Given the description of an element on the screen output the (x, y) to click on. 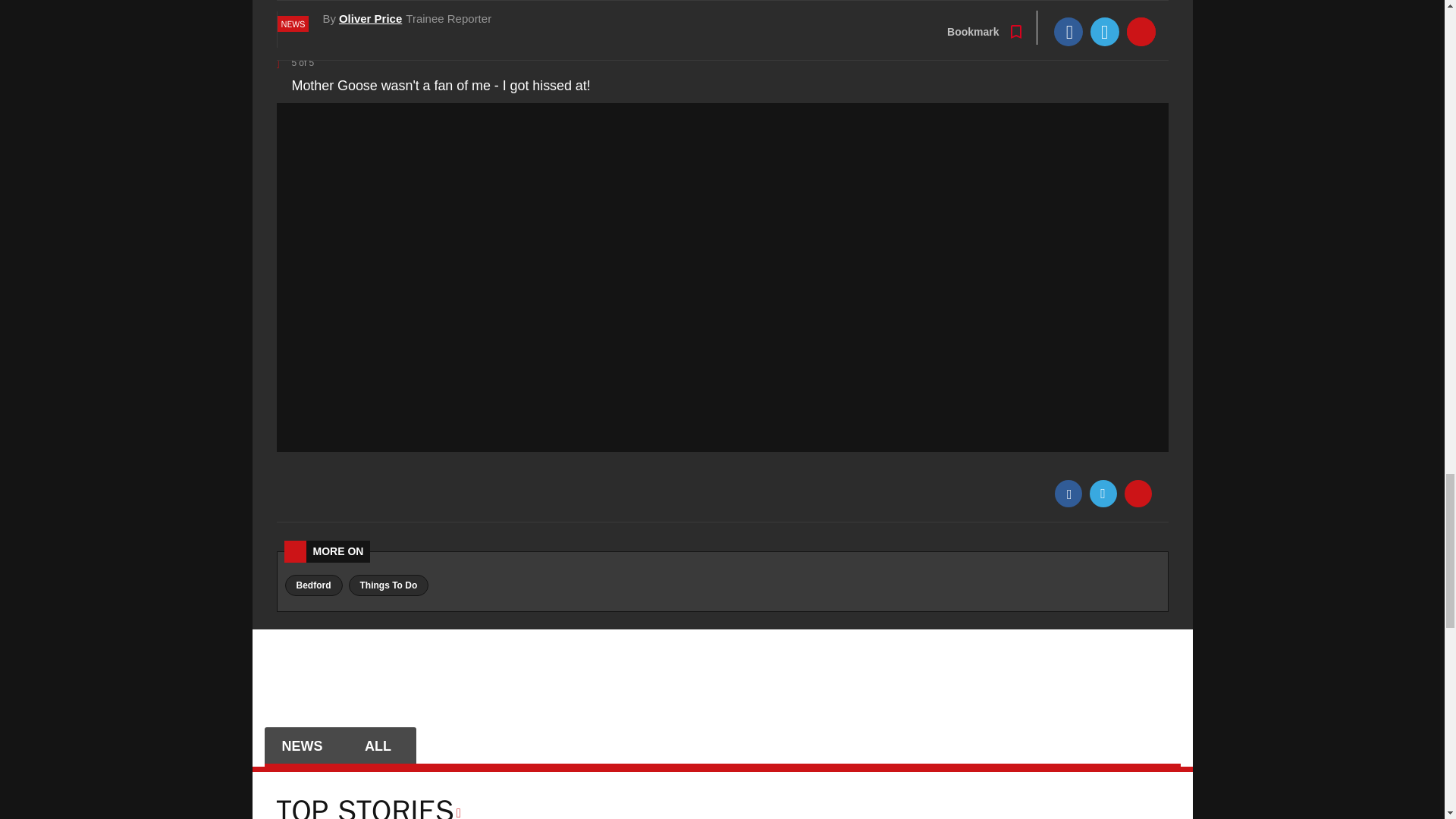
Facebook (1067, 492)
Twitter (1102, 492)
